Given the description of an element on the screen output the (x, y) to click on. 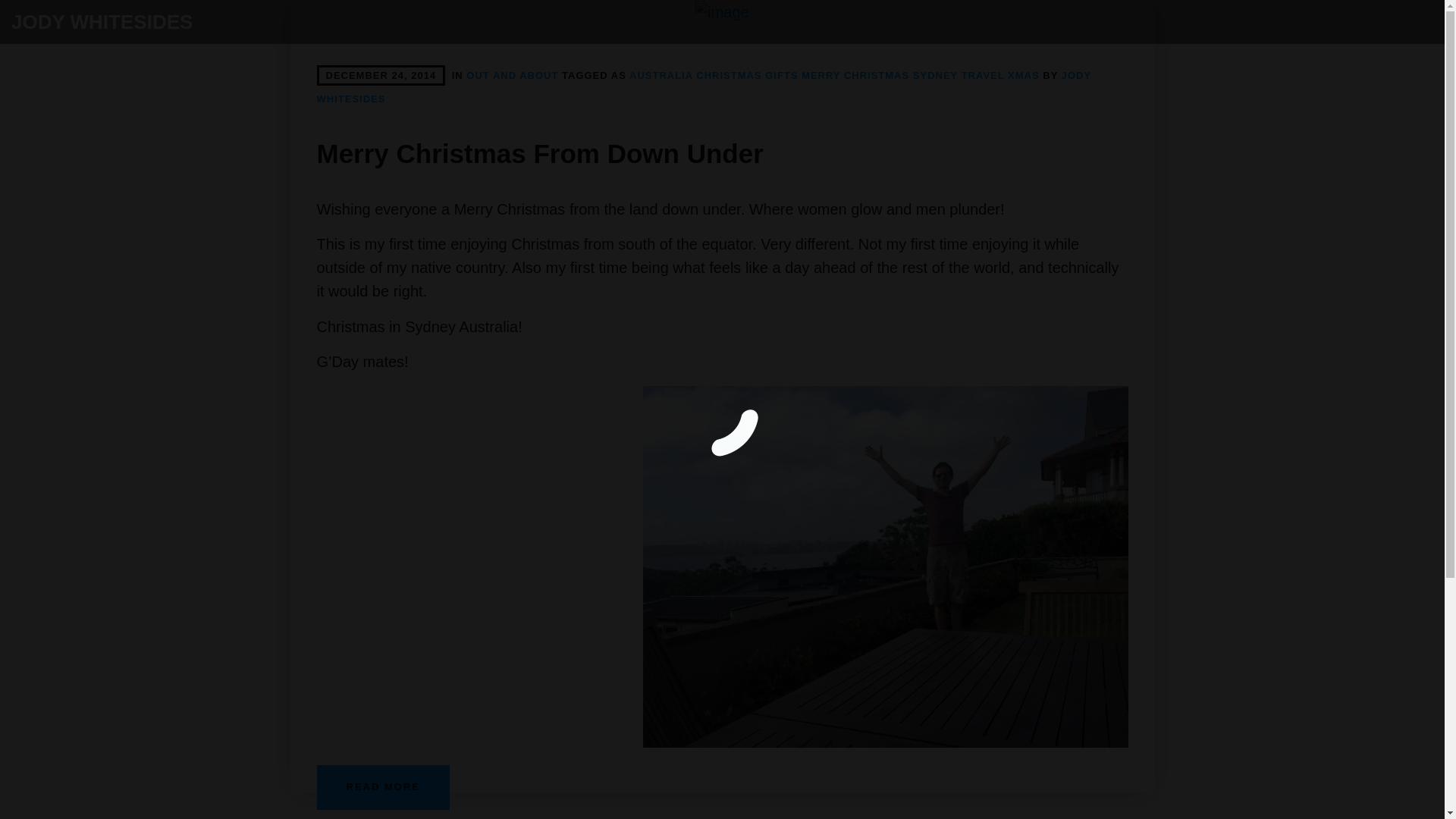
View all posts tagged as: merry christmas (855, 75)
SYDNEY (935, 75)
MERRY CHRISTMAS (855, 75)
View all posts in: Out And About (511, 75)
Merry Christmas From Down Under (721, 12)
View all posts tagged as: gifts (781, 75)
READ MORE (383, 786)
View all posts tagged as: sydney (935, 75)
GIFTS (781, 75)
image (721, 12)
